Given the description of an element on the screen output the (x, y) to click on. 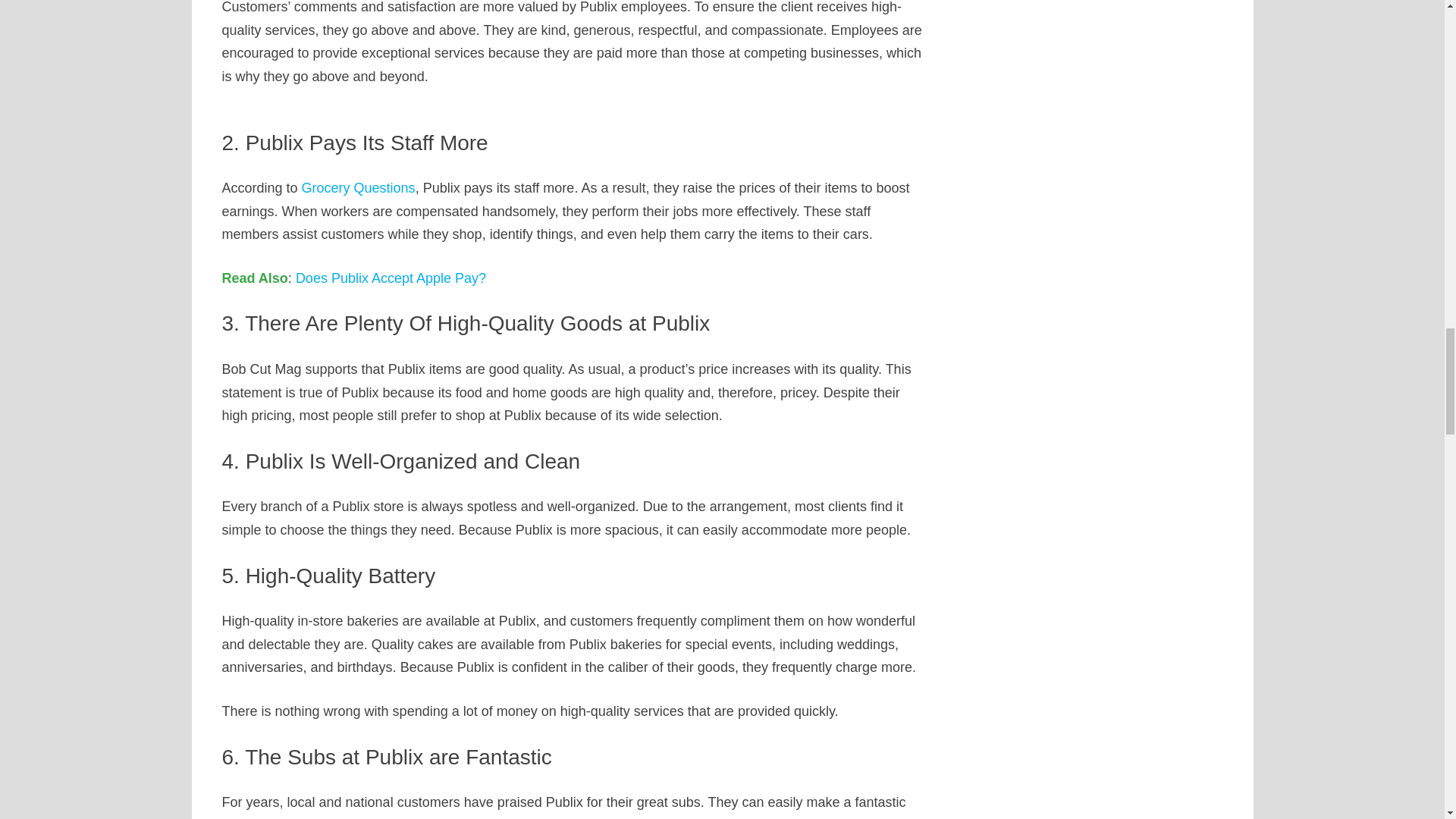
Does Publix Accept Apple Pay? (390, 278)
Grocery Questions (357, 187)
